Given the description of an element on the screen output the (x, y) to click on. 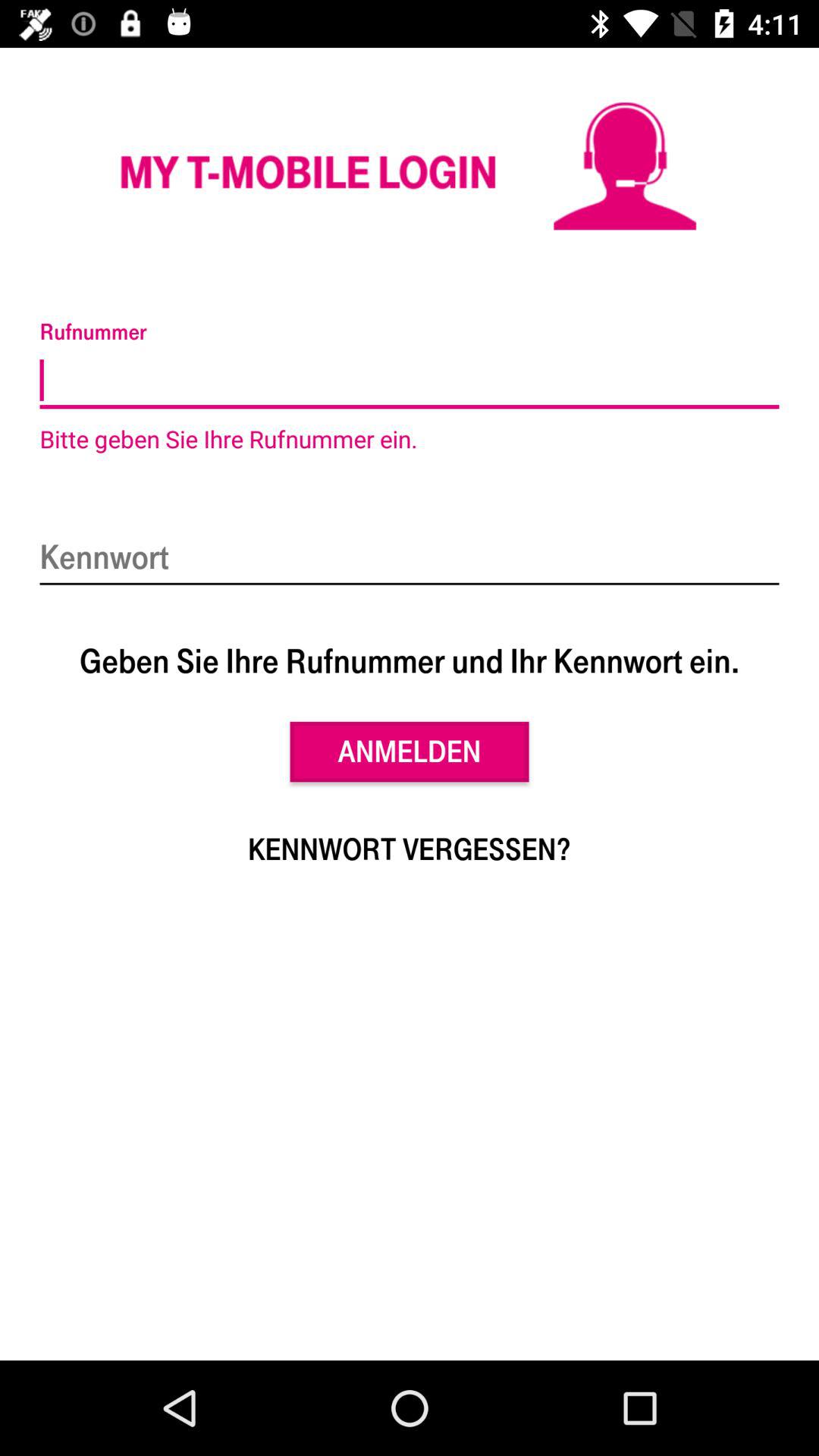
scroll to anmelden (409, 751)
